Given the description of an element on the screen output the (x, y) to click on. 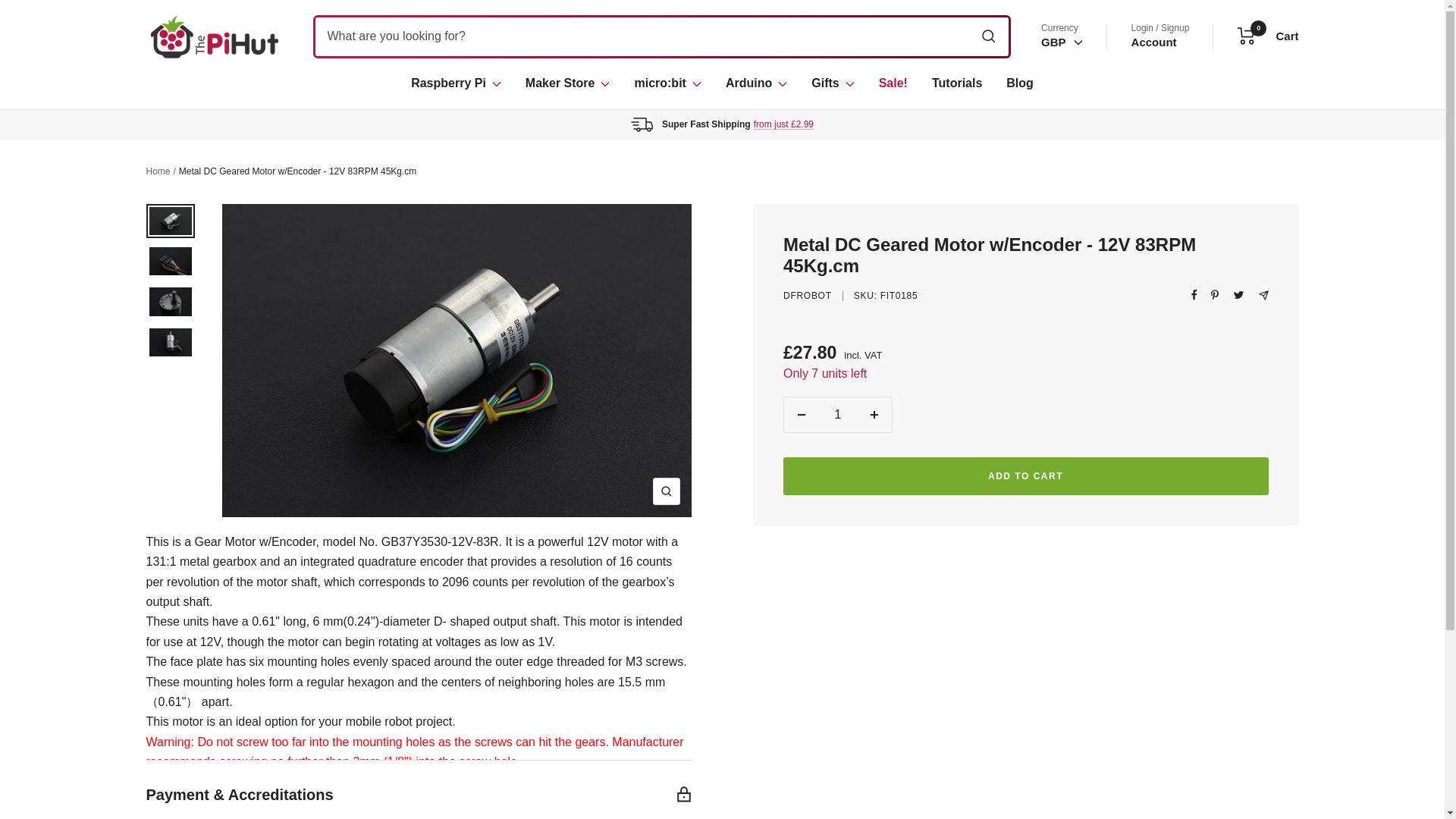
1 (837, 414)
The Pi Hut (1267, 36)
micro:bit (213, 36)
EUR (666, 83)
GBP (1058, 161)
Account (1062, 42)
Arduino (1153, 42)
Delivery (756, 83)
CAD (783, 123)
